Given the description of an element on the screen output the (x, y) to click on. 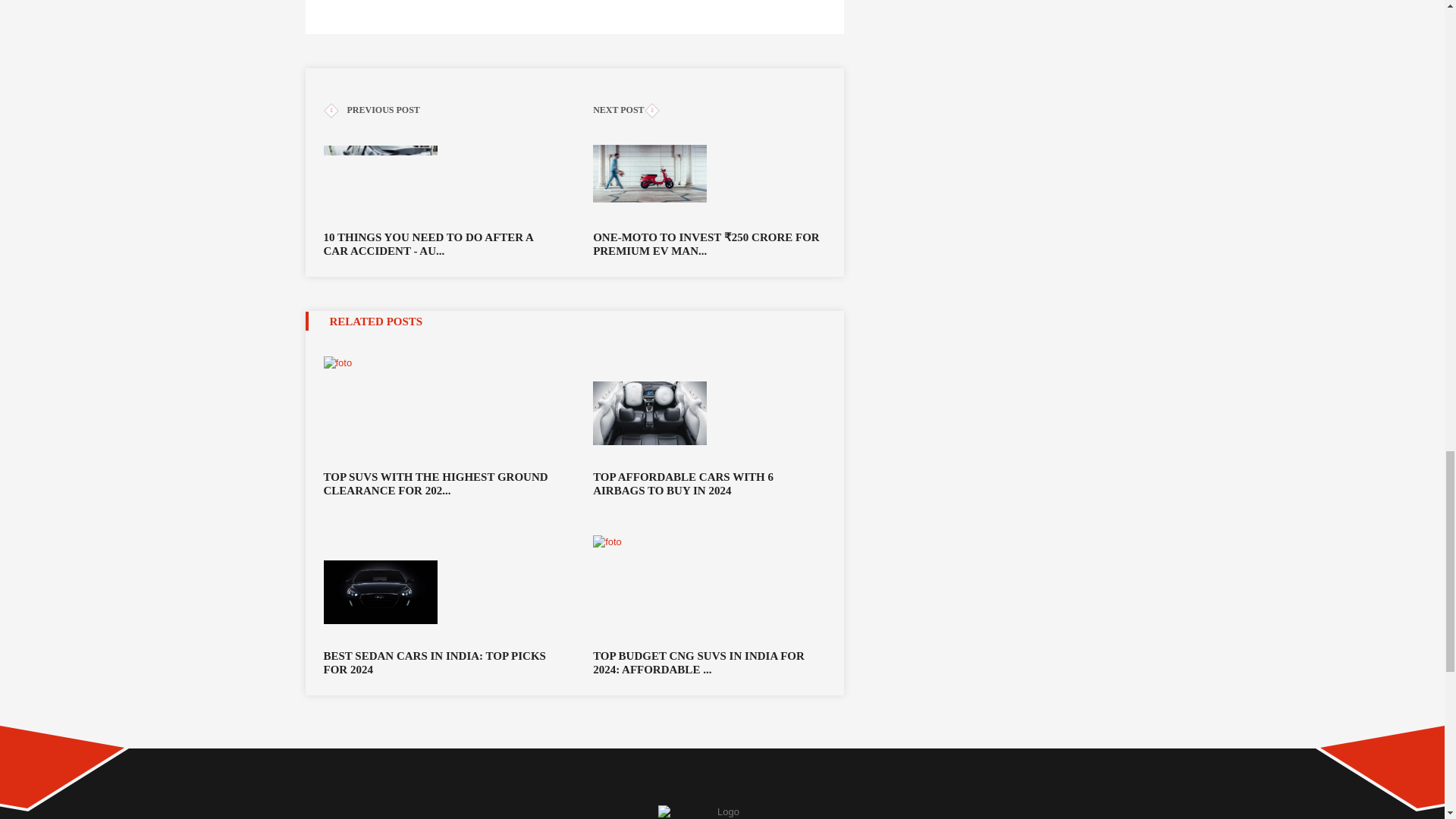
TOP BUDGET CNG SUVS IN INDIA FOR 2024: AFFORDABLE ... (708, 662)
TOP AFFORDABLE CARS WITH 6 AIRBAGS TO BUY IN 2024 (708, 483)
BEST SEDAN CARS IN INDIA: TOP PICKS FOR 2024 (438, 662)
10 THINGS YOU NEED TO DO AFTER A CAR ACCIDENT - AU... (438, 187)
PREVIOUS POST (438, 110)
TOP SUVS WITH THE HIGHEST GROUND CLEARANCE FOR 202... (438, 483)
NEXT POST (708, 110)
